Given the description of an element on the screen output the (x, y) to click on. 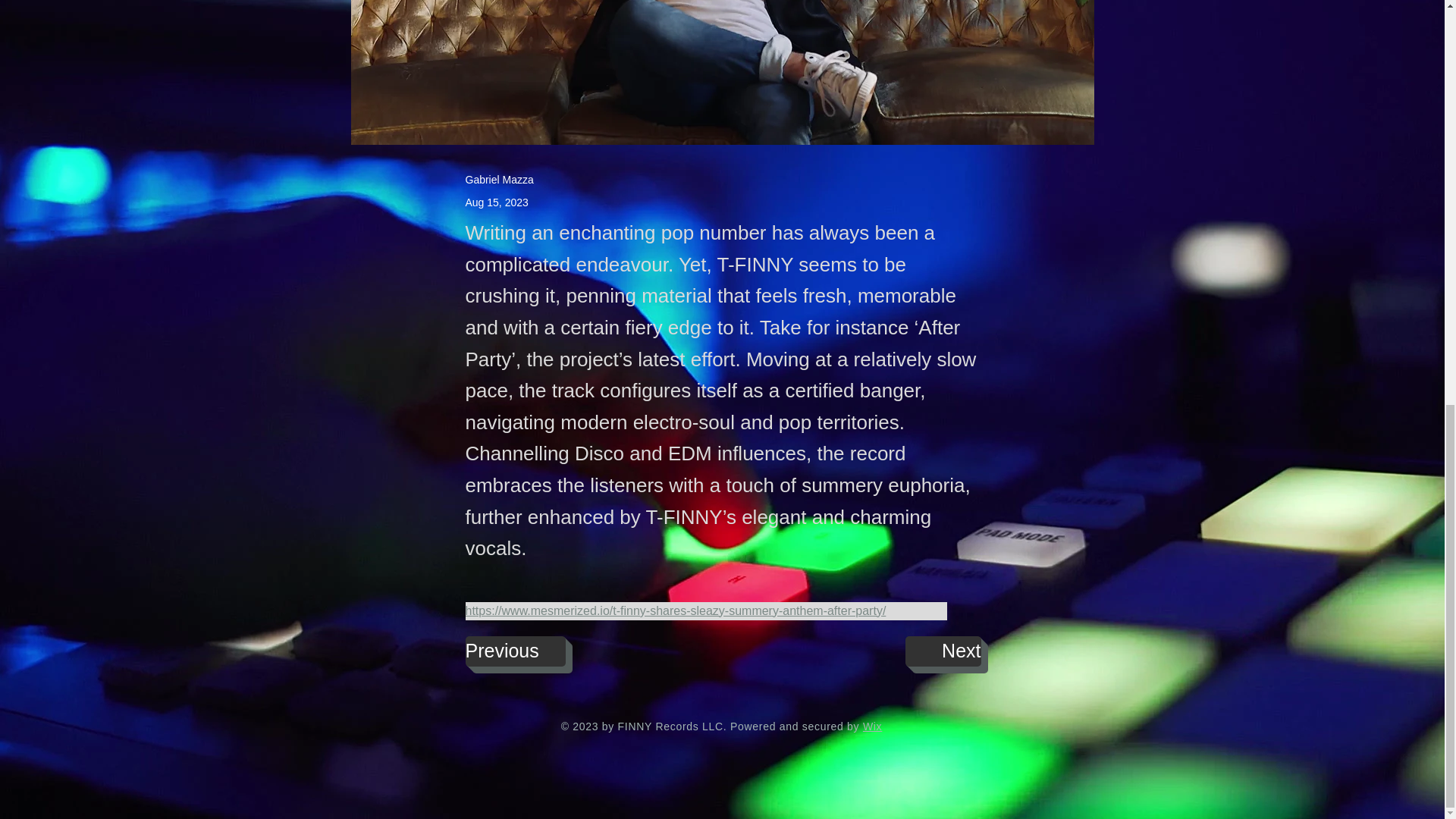
Next (943, 651)
Previous (515, 651)
Wix (872, 726)
